Given the description of an element on the screen output the (x, y) to click on. 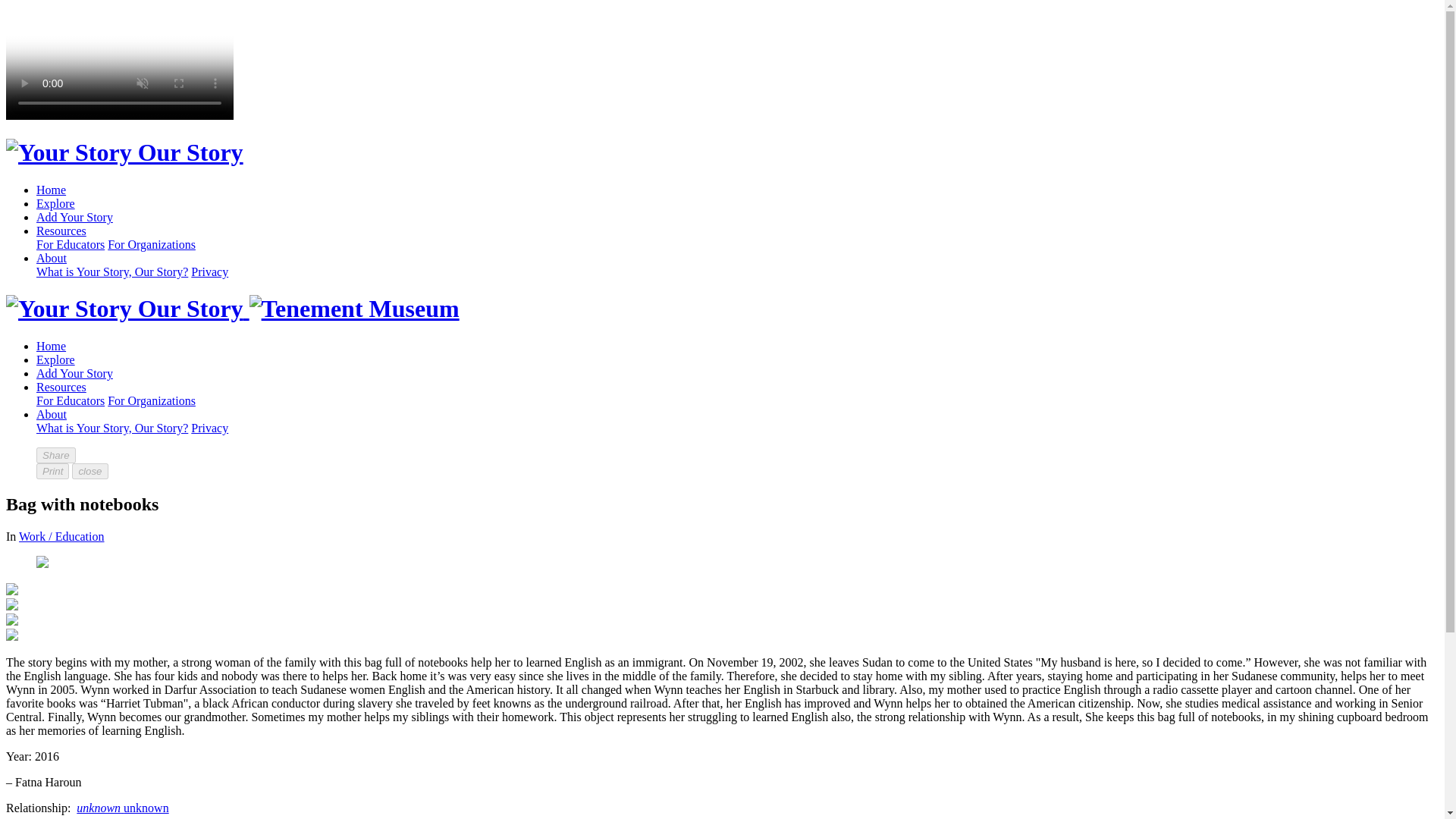
Print (52, 471)
What is Your Story, Our Story? (111, 427)
About (51, 413)
Explore (55, 203)
Resources (60, 386)
For Educators (70, 400)
Privacy (209, 271)
Home (50, 189)
Share (55, 455)
unknown unknown (122, 807)
